Given the description of an element on the screen output the (x, y) to click on. 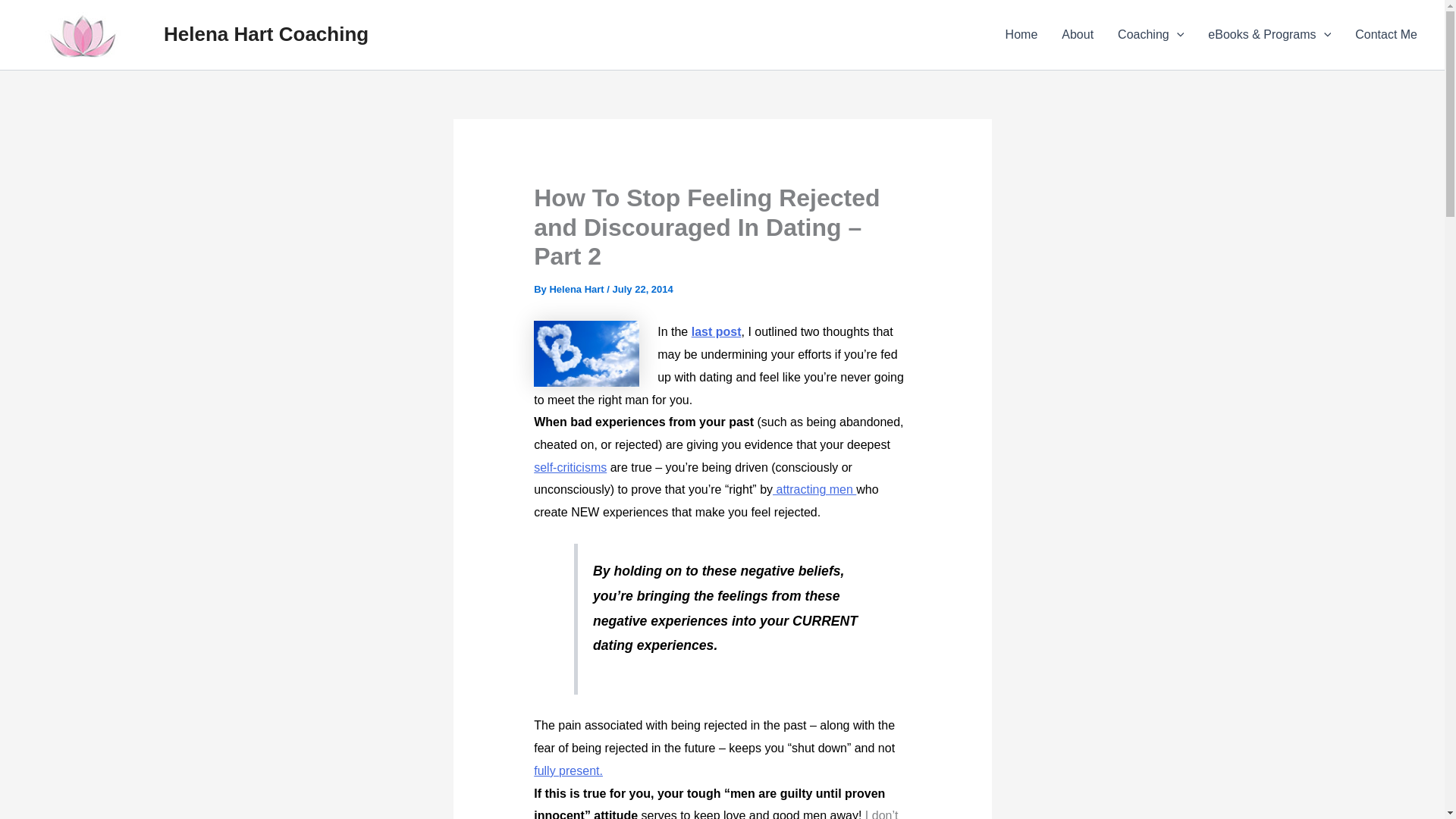
About (1077, 34)
Contact Me (1385, 34)
Coaching (1150, 34)
View all posts by Helena Hart (577, 288)
Home (1020, 34)
Helena Hart Coaching (265, 33)
